Given the description of an element on the screen output the (x, y) to click on. 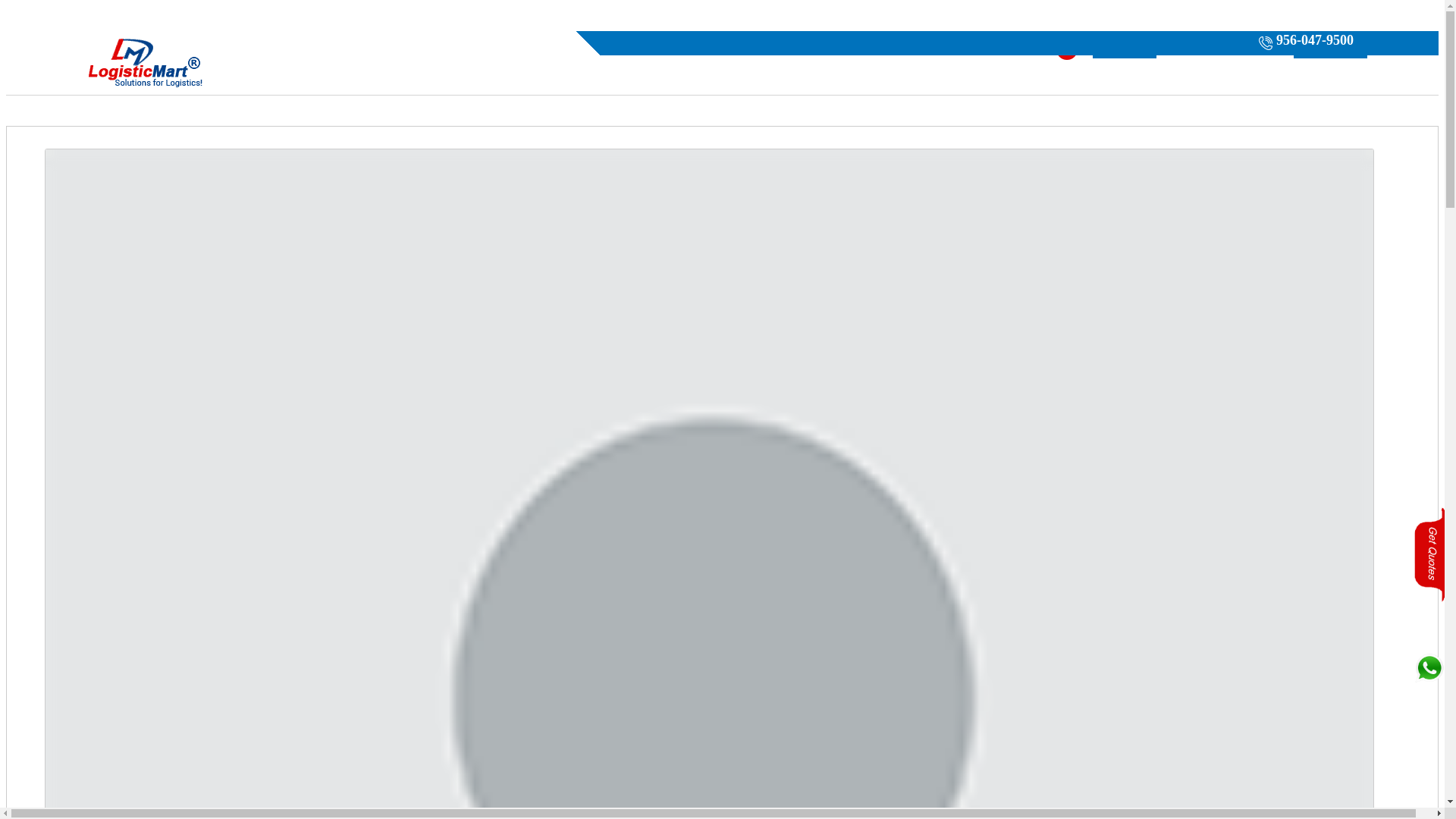
Get Quotes (1124, 48)
Join as a Professional (1225, 48)
956-047-9500 (1304, 43)
